Given the description of an element on the screen output the (x, y) to click on. 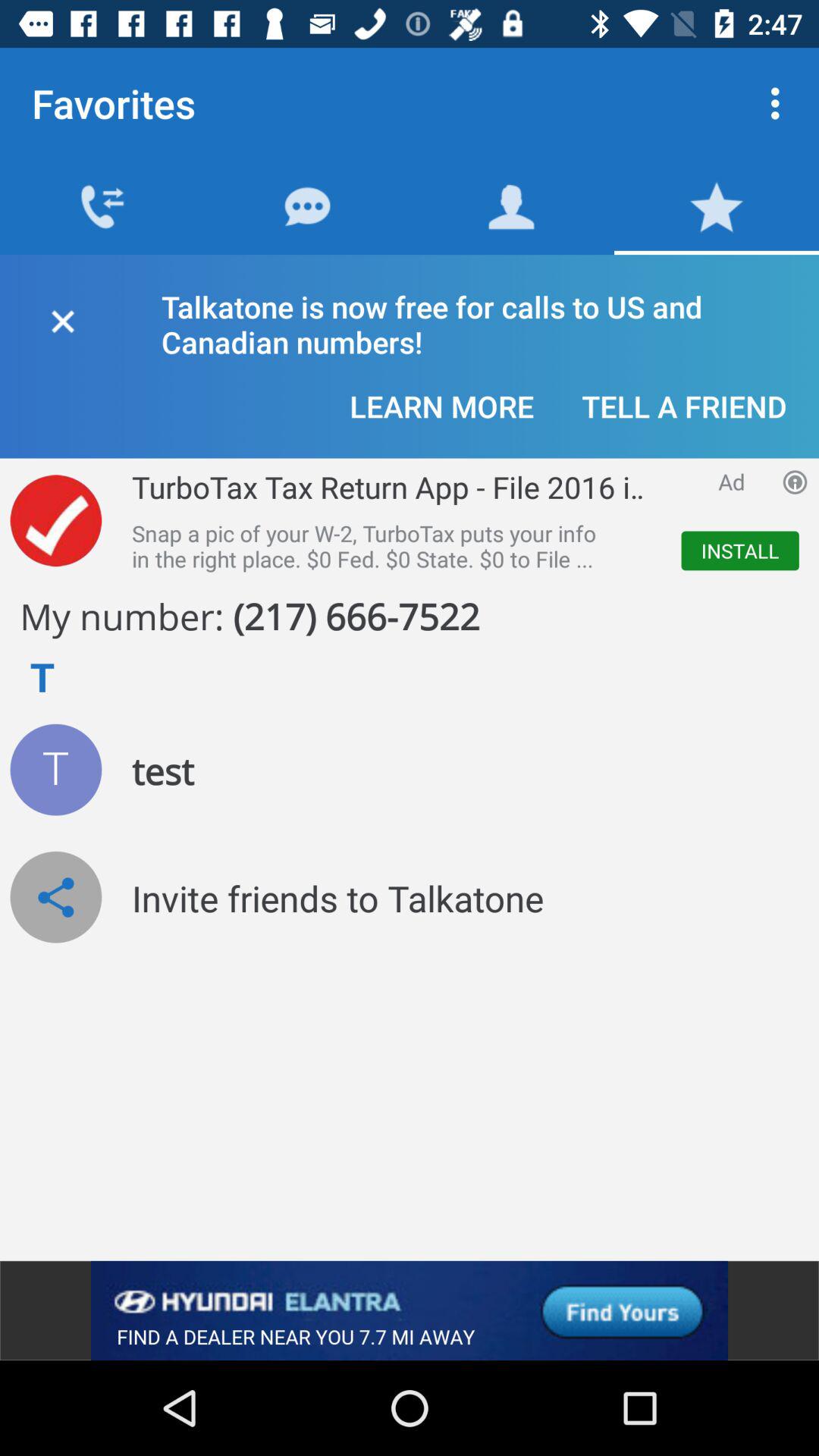
profile picture (55, 769)
